Given the description of an element on the screen output the (x, y) to click on. 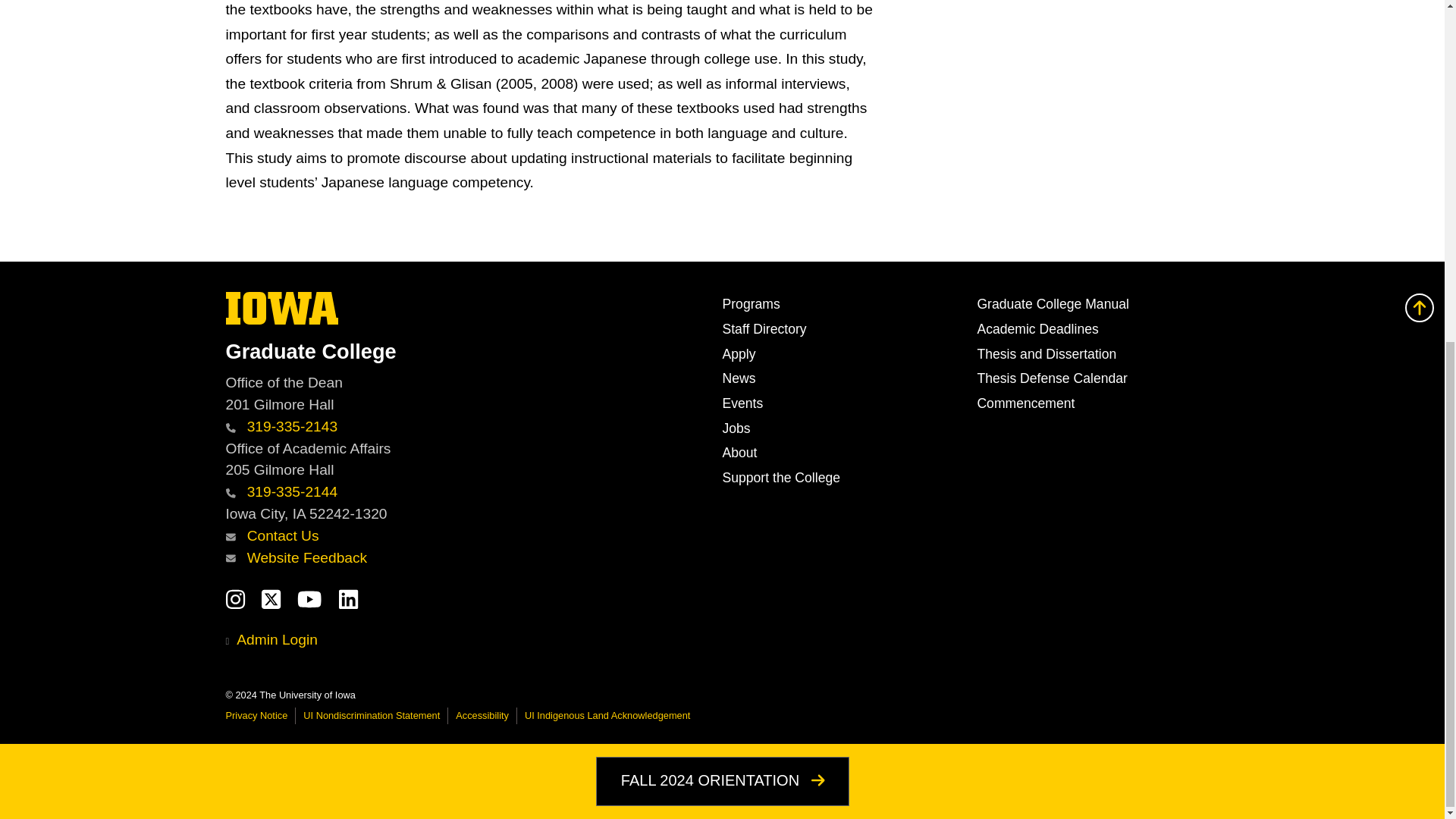
About the Graduate College (739, 452)
University of Iowa (282, 307)
Commencement (1025, 403)
